Given the description of an element on the screen output the (x, y) to click on. 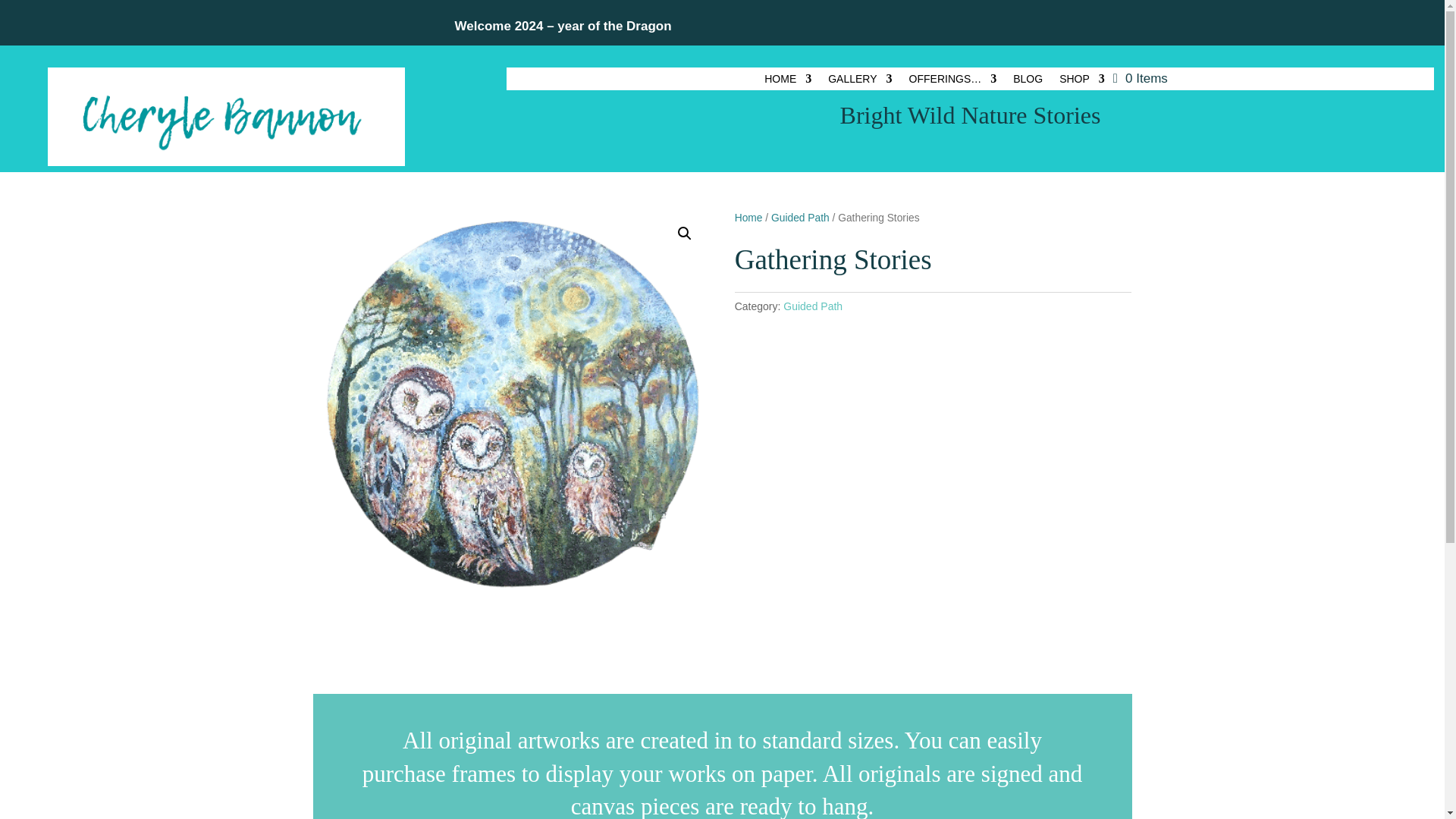
GALLERY (859, 81)
SHOP (1082, 81)
HOME (787, 81)
BLOG (1027, 81)
0 Items (1140, 78)
